Given the description of an element on the screen output the (x, y) to click on. 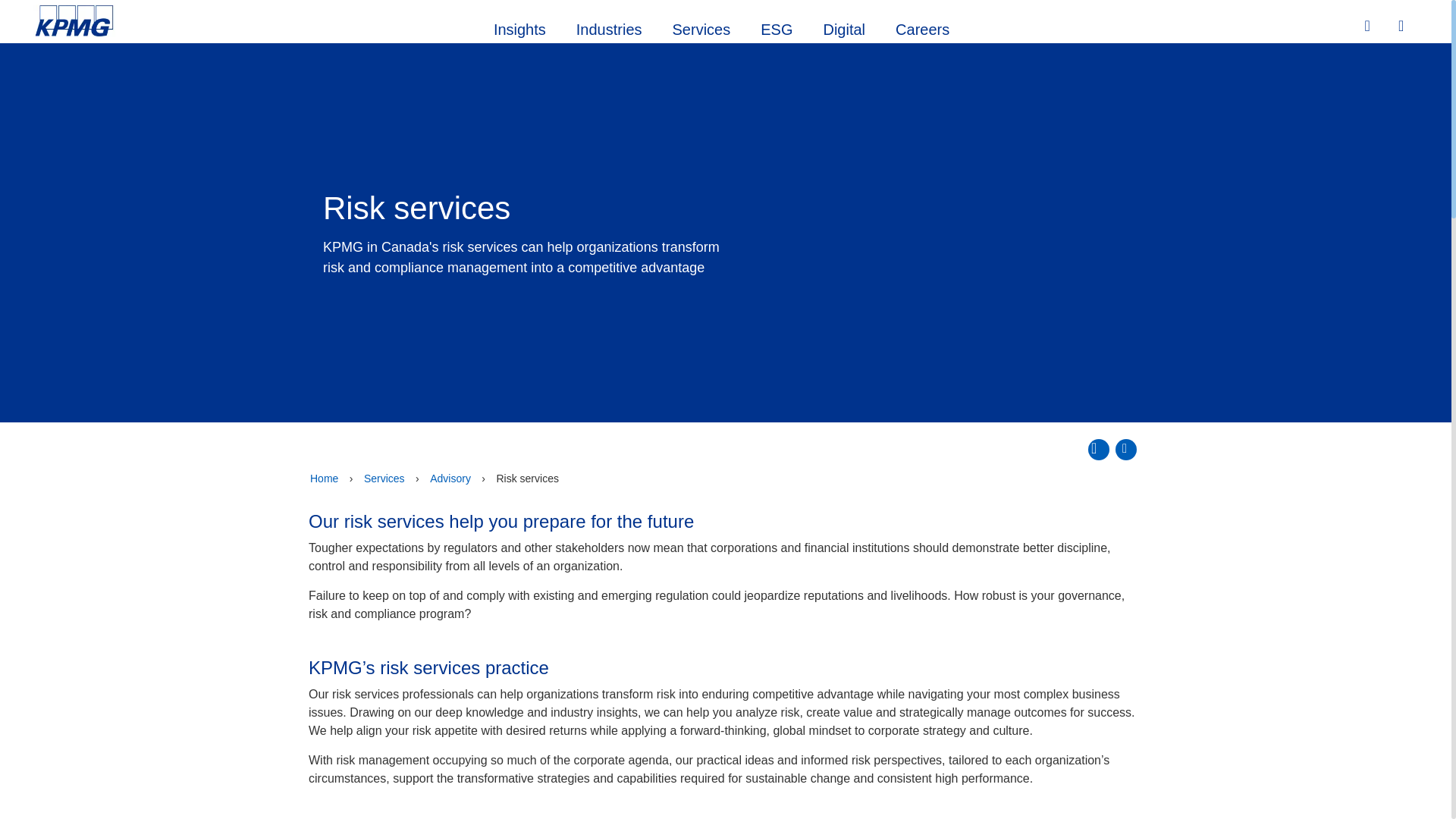
Go to bottom of page (1126, 449)
Site Selector (1402, 26)
Home (323, 478)
Industries (609, 27)
Services (701, 27)
Insights (519, 27)
ESG (776, 27)
Careers (921, 27)
Digital (844, 27)
Search (1369, 26)
Advisory (449, 478)
Services (384, 478)
